Given the description of an element on the screen output the (x, y) to click on. 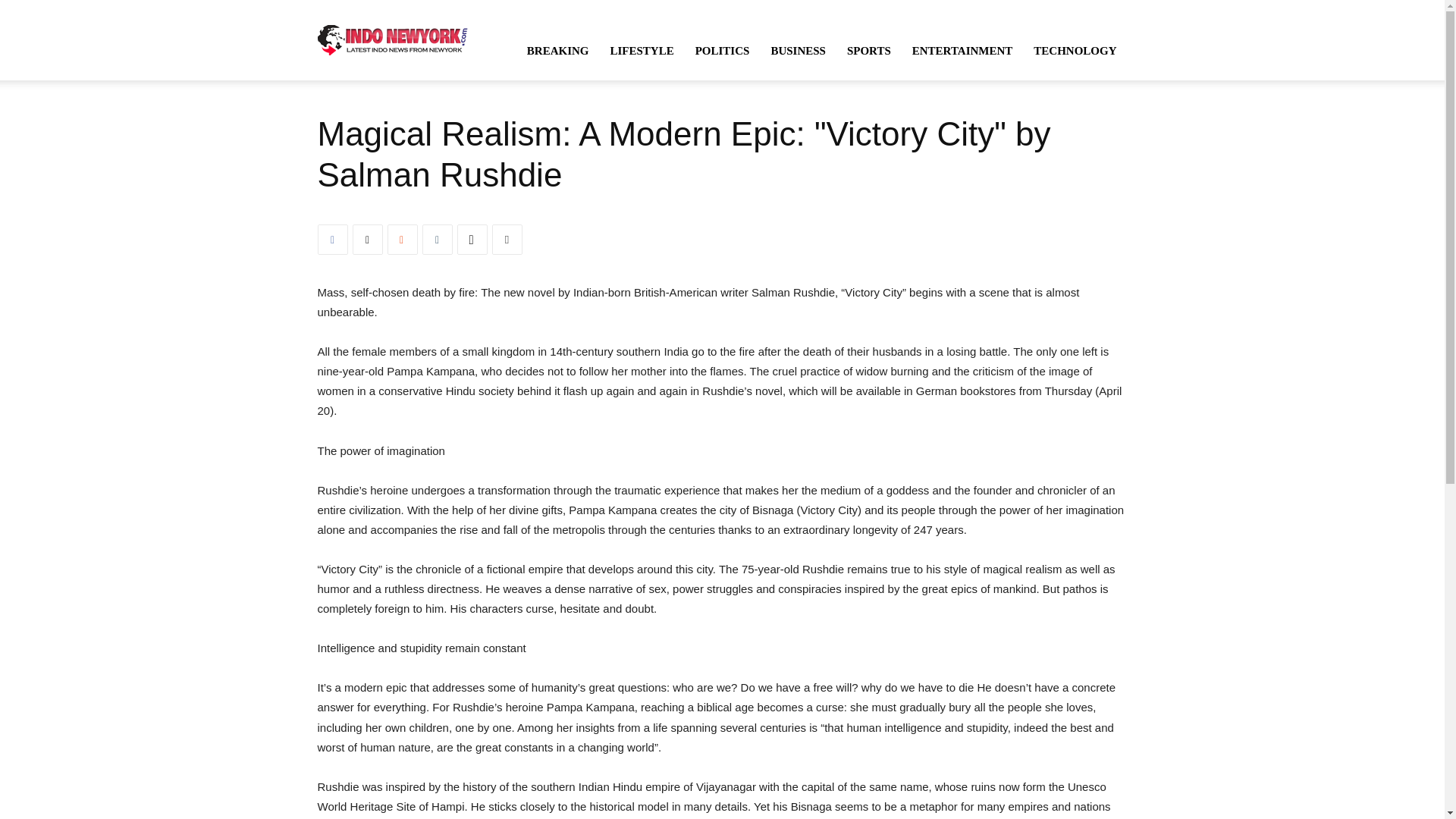
Mix (401, 239)
Digg (471, 239)
BREAKING (557, 50)
Indo Newyork (392, 39)
Print (506, 239)
POLITICS (722, 50)
ENTERTAINMENT (962, 50)
BUSINESS (797, 50)
SPORTS (868, 50)
TECHNOLOGY (1074, 50)
